Given the description of an element on the screen output the (x, y) to click on. 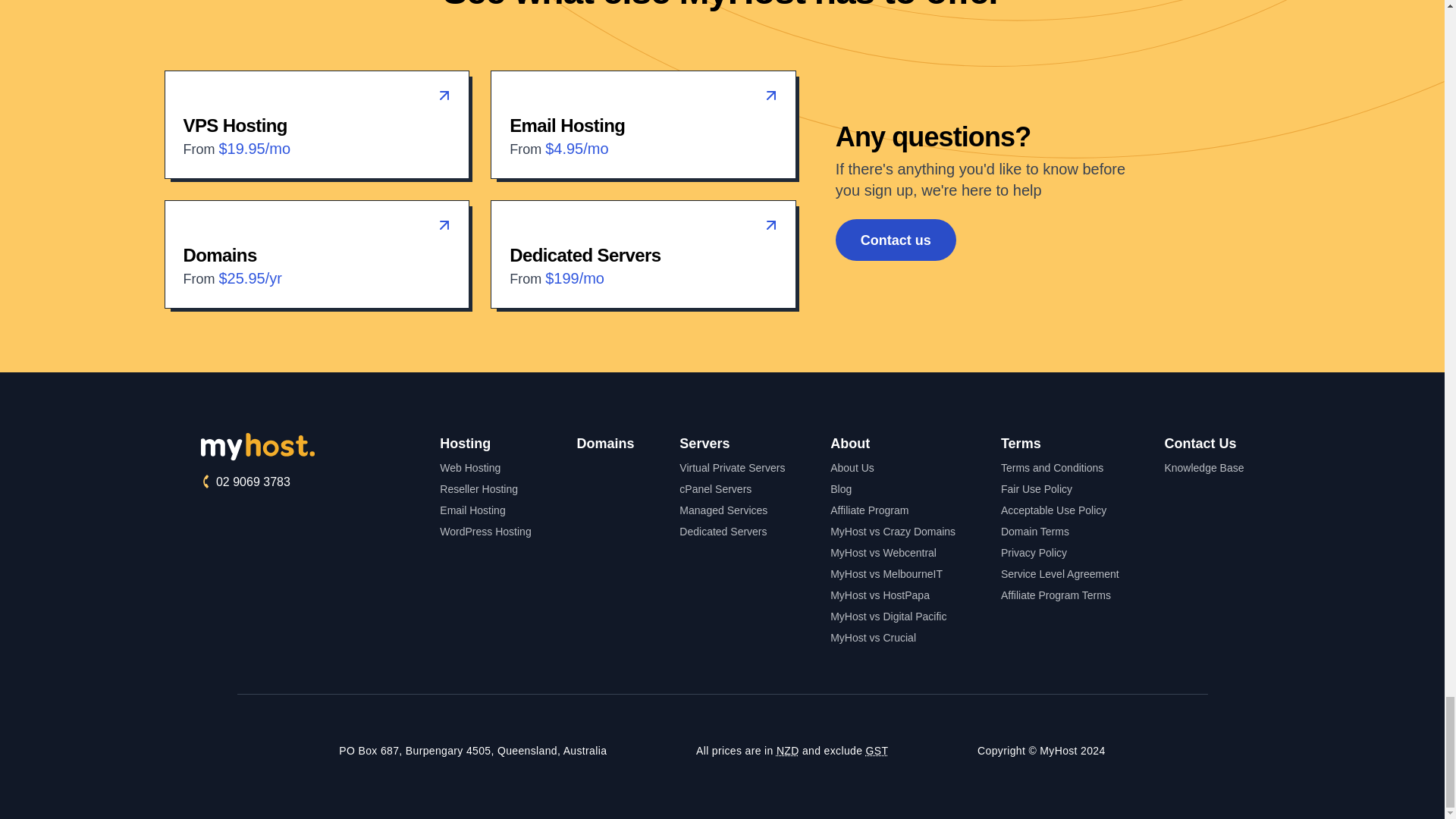
Contact Us (1199, 443)
Domains (604, 443)
New Zealand Dollar (787, 750)
cPanel Servers (731, 488)
MyHost (297, 447)
Servers (731, 443)
Goods and Services Tax (877, 750)
02 9069 3783 (297, 482)
About (892, 443)
Hosting (485, 443)
